Given the description of an element on the screen output the (x, y) to click on. 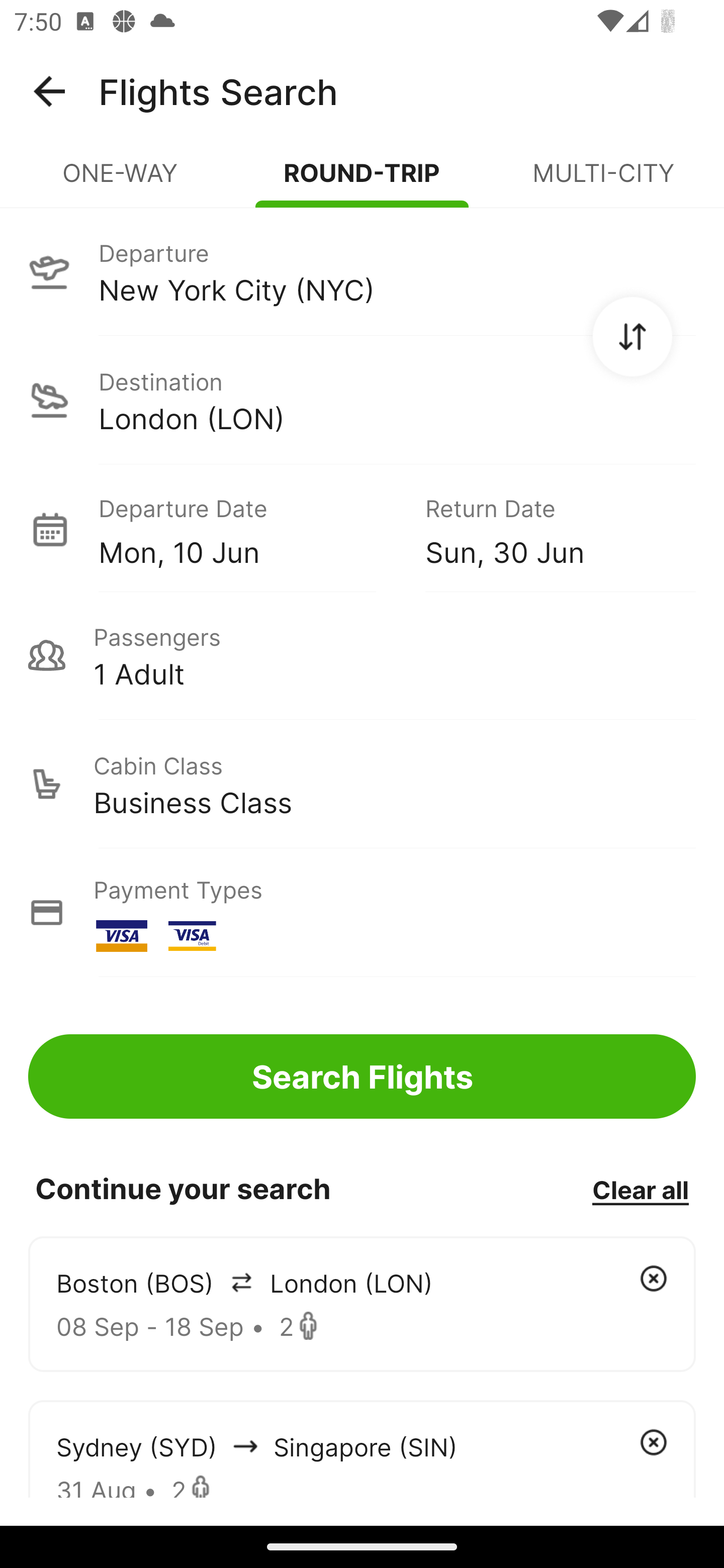
ONE-WAY (120, 180)
ROUND-TRIP (361, 180)
MULTI-CITY (603, 180)
Departure New York City (NYC) (362, 270)
Destination London (LON) (362, 400)
Departure Date Mon, 10 Jun (247, 528)
Return Date Sun, 30 Jun (546, 528)
Passengers 1 Adult (362, 655)
Cabin Class Business Class (362, 783)
Payment Types (362, 912)
Search Flights (361, 1075)
Clear all (640, 1189)
